Given the description of an element on the screen output the (x, y) to click on. 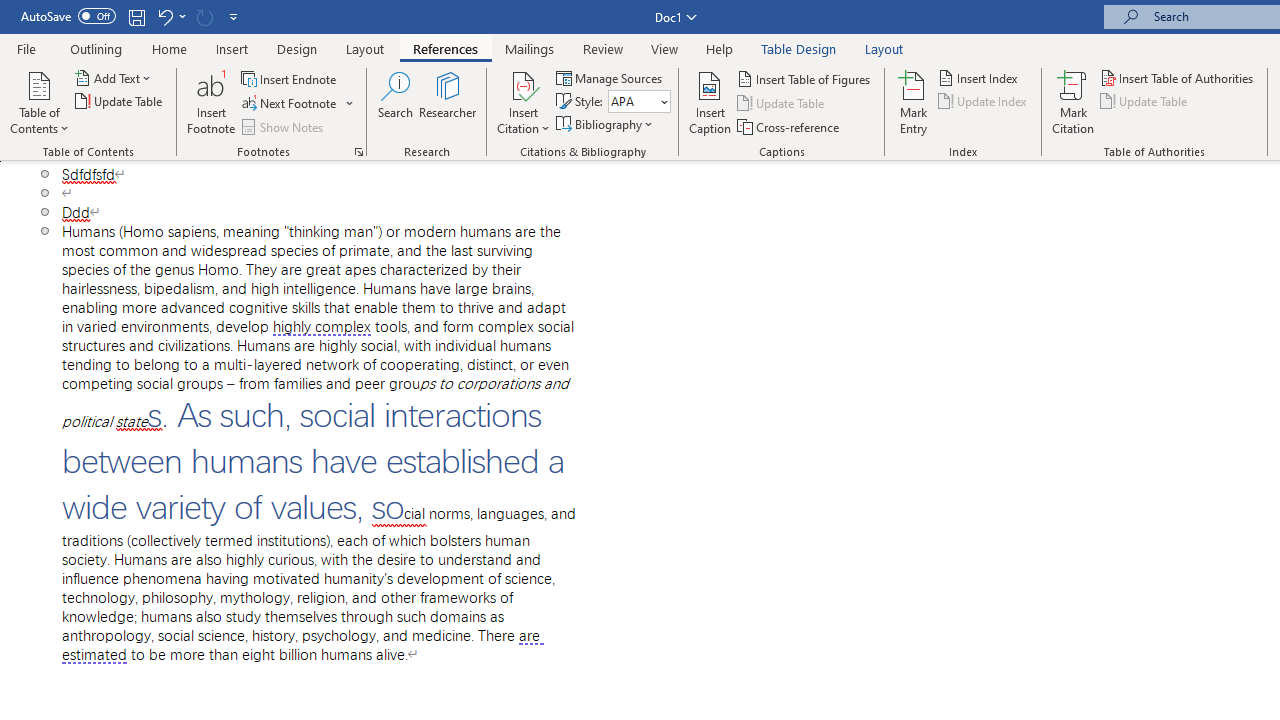
Style (632, 101)
Insert Caption... (710, 102)
Update Table (1145, 101)
Insert Index... (979, 78)
Mark Entry... (913, 102)
Insert Citation (523, 102)
Can't Repeat (204, 15)
Next Footnote (298, 103)
Table of Contents (39, 102)
